Given the description of an element on the screen output the (x, y) to click on. 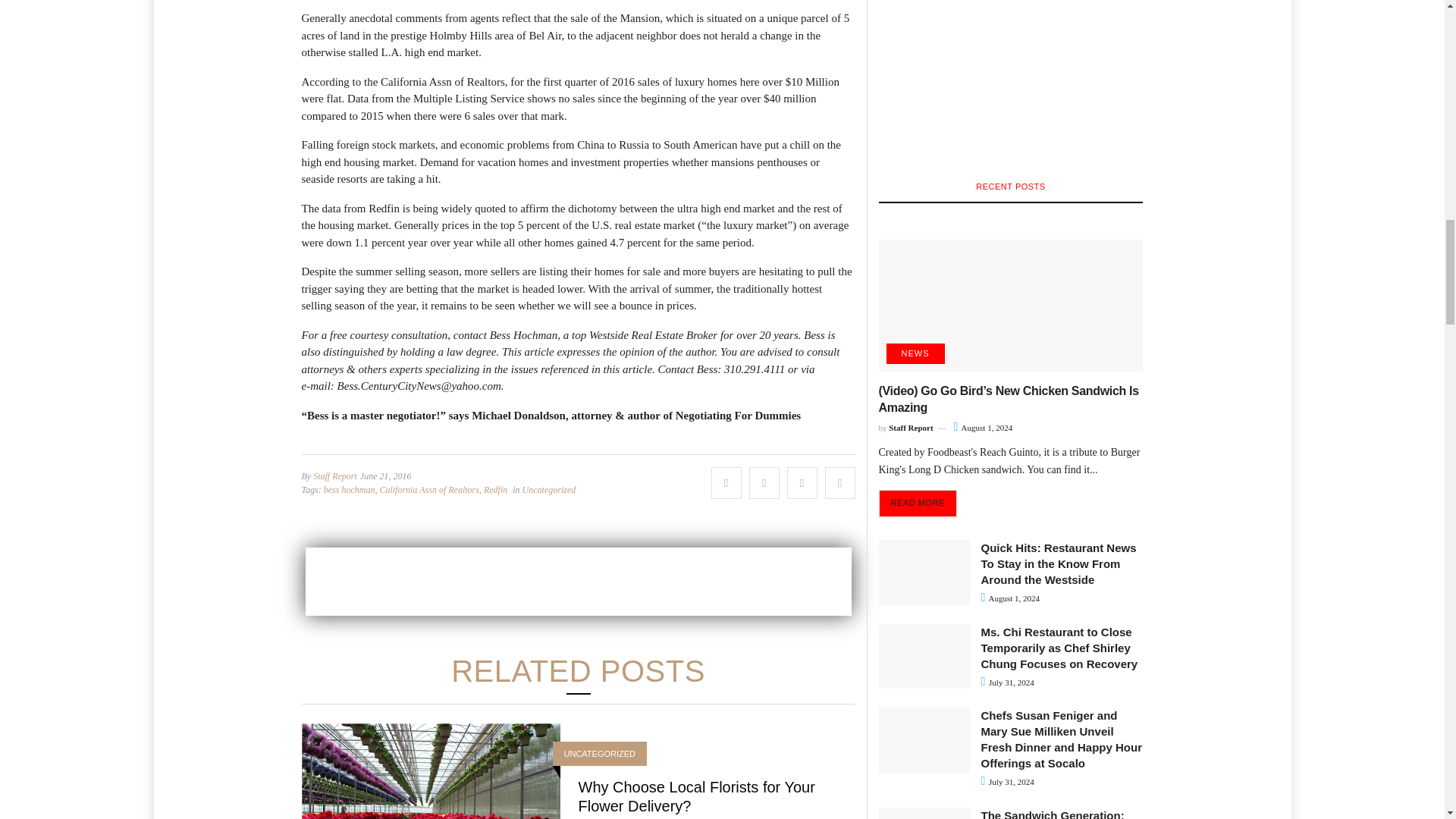
Staff Report (334, 475)
Posts by Staff Report (334, 475)
Why Choose Local Florists for Your Flower Delivery? (430, 808)
Uncategorized (549, 489)
California Assn of Realtors (428, 489)
UNCATEGORIZED (600, 753)
bess hochman (349, 489)
Redfin (494, 489)
Why Choose Local Florists for Your Flower Delivery? (695, 796)
Why Choose Local Florists for Your Flower Delivery? (695, 796)
3rd party ad content (577, 581)
